Given the description of an element on the screen output the (x, y) to click on. 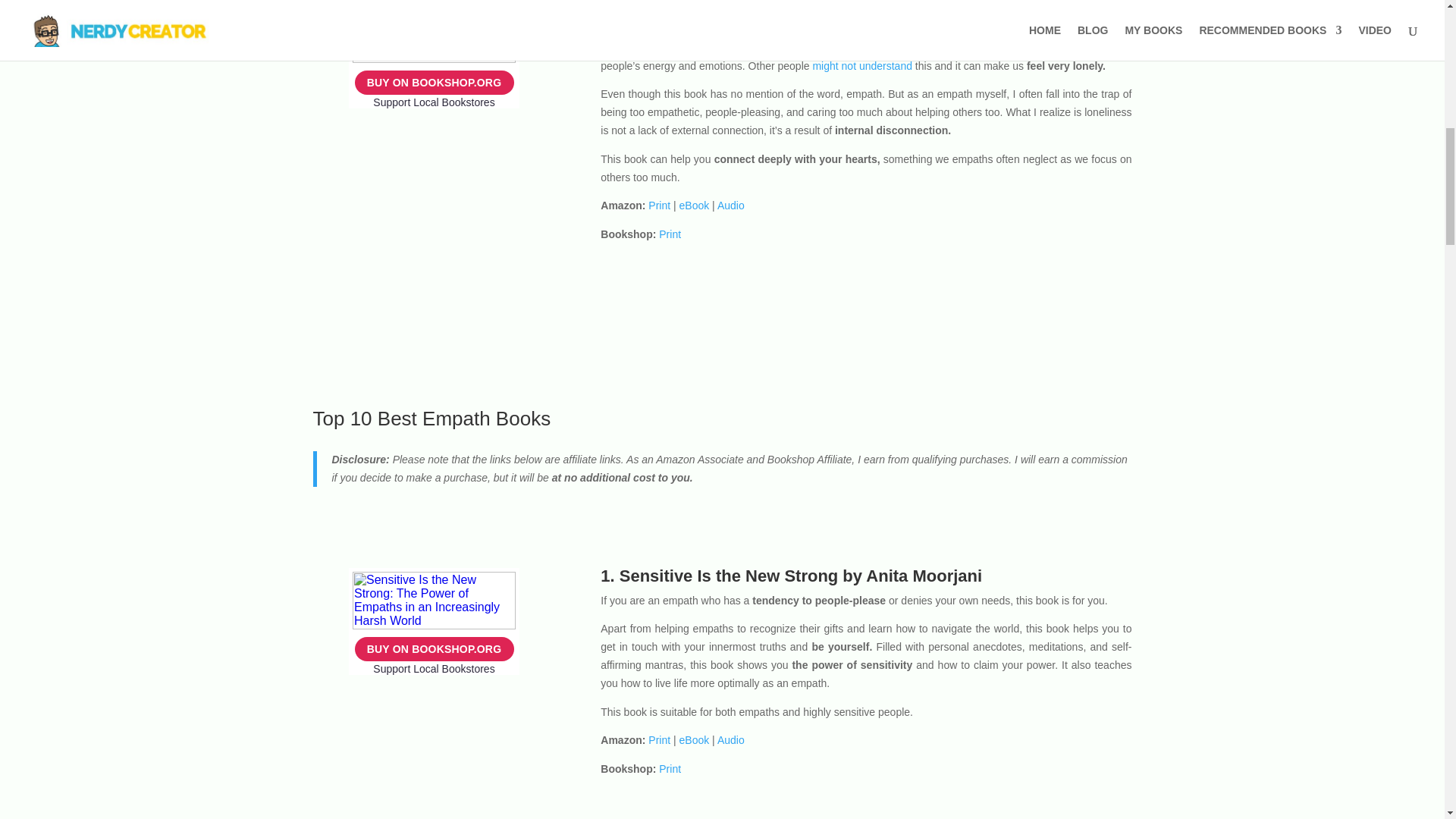
might not understand (862, 65)
Print (658, 739)
Audio (730, 205)
Print (670, 234)
Print (670, 768)
Print (658, 205)
eBook (694, 739)
Audio (730, 739)
eBook (694, 205)
